Given the description of an element on the screen output the (x, y) to click on. 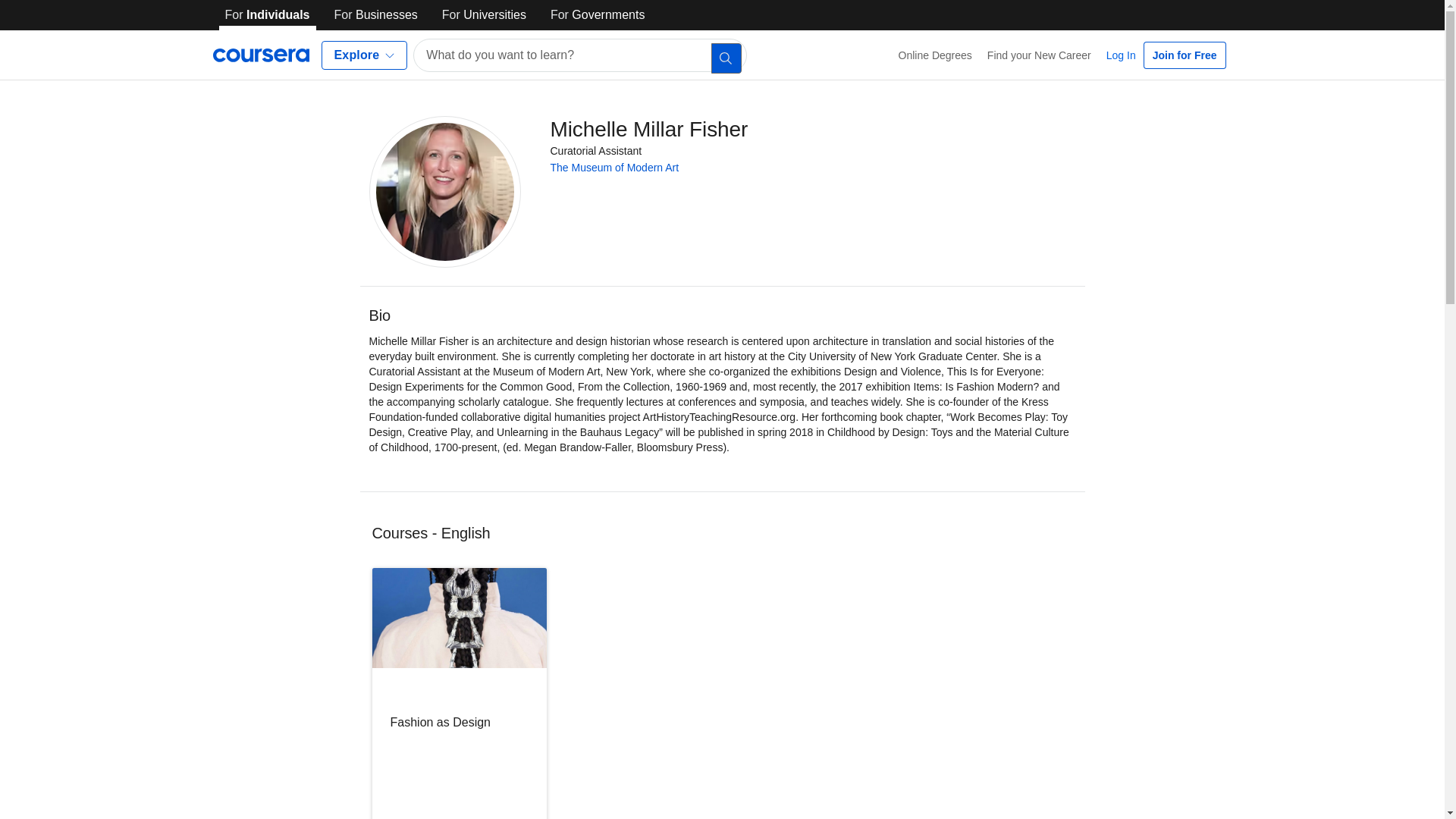
The Museum of Modern Art (614, 167)
For Individuals (266, 15)
Online Degrees (935, 54)
Find your New Career (1039, 54)
For Businesses (376, 15)
Join for Free (1183, 53)
For Governments (597, 15)
Log In (1120, 54)
Explore (364, 54)
For Universities (483, 15)
